Given the description of an element on the screen output the (x, y) to click on. 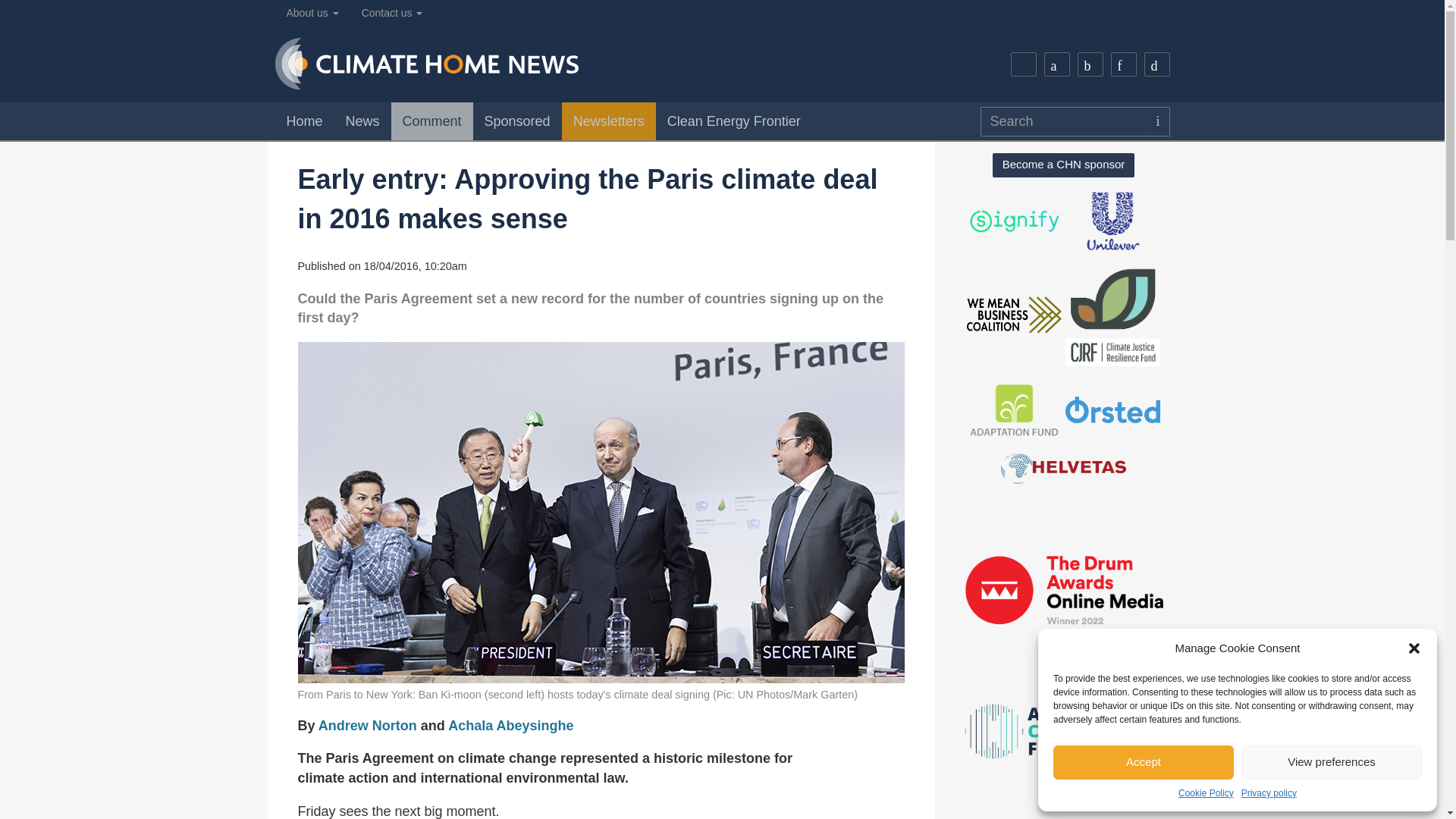
Comment (432, 121)
Home (304, 121)
Cookie Policy (1205, 793)
About us (312, 13)
Privacy policy (1269, 793)
Accept (1142, 762)
Sponsored (517, 121)
Contact us (391, 13)
View preferences (1331, 762)
News (362, 121)
